Given the description of an element on the screen output the (x, y) to click on. 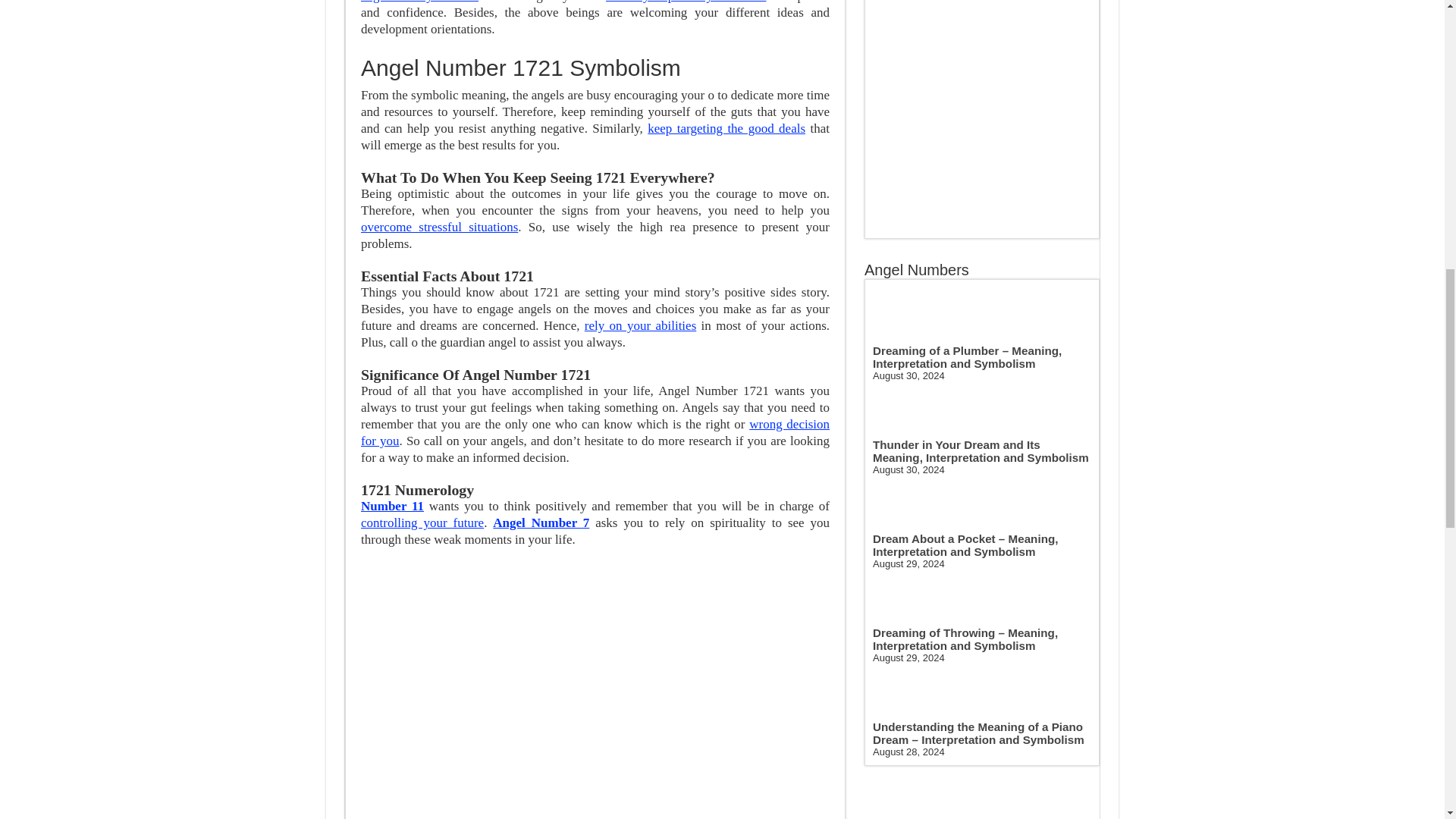
Angel Number 7 (541, 522)
Number 11 (392, 505)
rely on your abilities (640, 325)
controlling your future (422, 522)
angels have your back (420, 1)
wrong decision for you (595, 431)
audacity to pursue your dream (685, 1)
overcome stressful situations (439, 227)
keep targeting the good deals (726, 128)
